Given the description of an element on the screen output the (x, y) to click on. 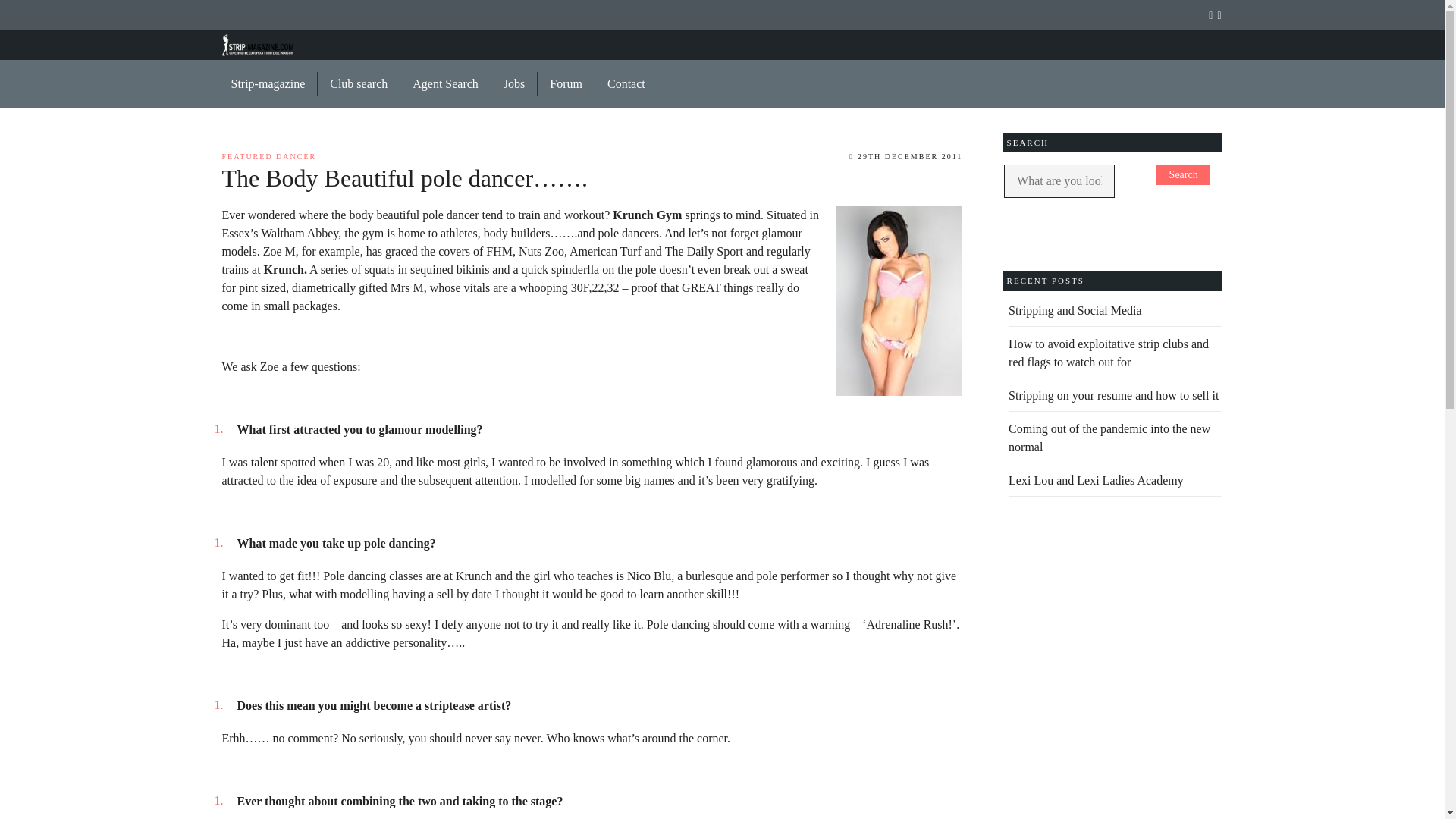
Search (1183, 174)
Strip-magazine (267, 84)
FEATURED DANCER (268, 156)
Lexi Lou and Lexi Ladies Academy (1096, 480)
Coming out of the pandemic into the new normal (1109, 437)
Jobs (514, 84)
Contact (620, 84)
Agent Search (446, 84)
Forum (566, 84)
